Given the description of an element on the screen output the (x, y) to click on. 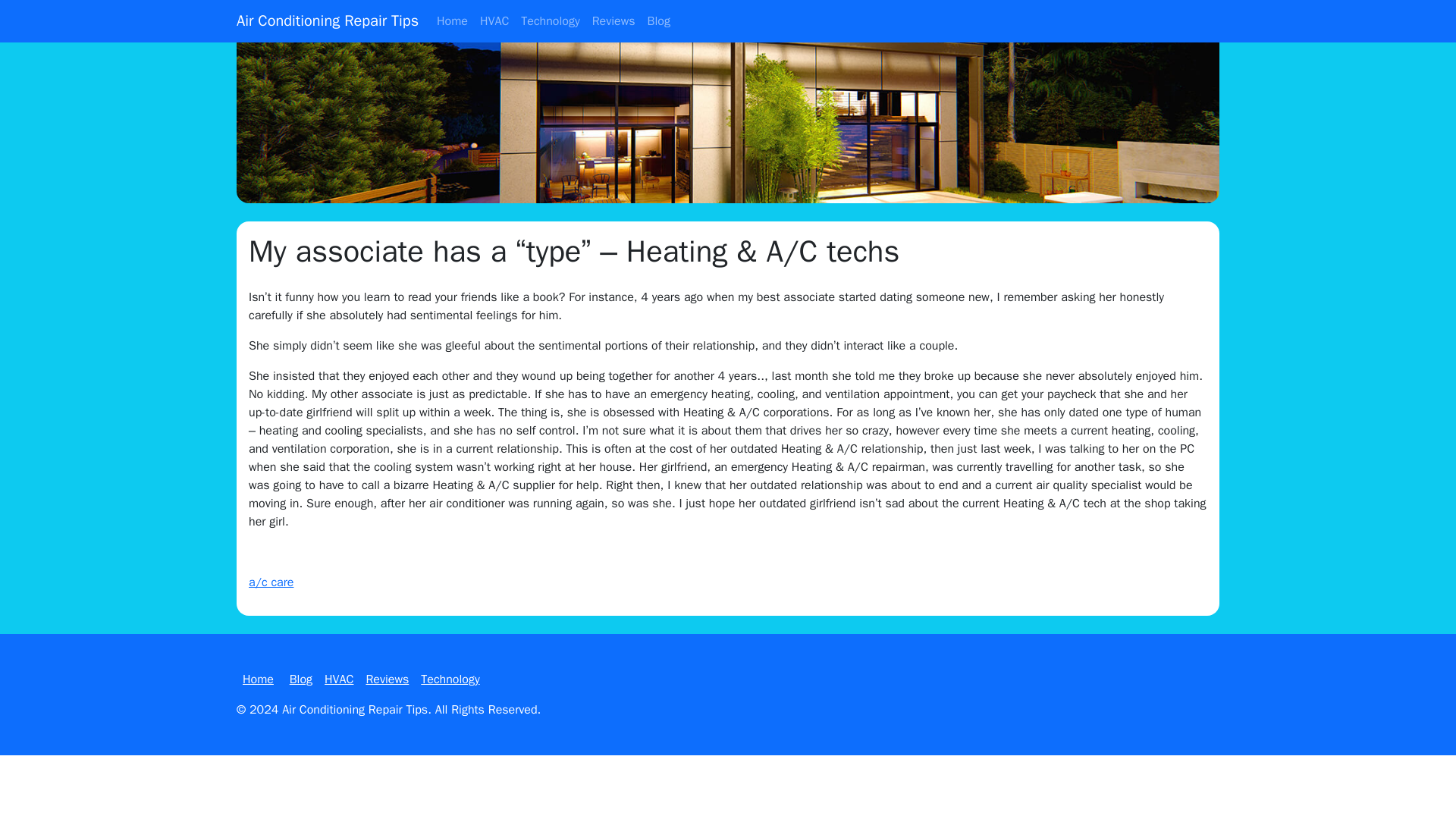
Reviews (614, 20)
Reviews (386, 679)
HVAC (338, 679)
Technology (449, 679)
Home (452, 20)
Blog (659, 20)
Home (257, 679)
Air Conditioning Repair Tips (355, 709)
HVAC (494, 20)
Blog (300, 679)
Technology (550, 20)
Air Conditioning Repair Tips (327, 20)
